Given the description of an element on the screen output the (x, y) to click on. 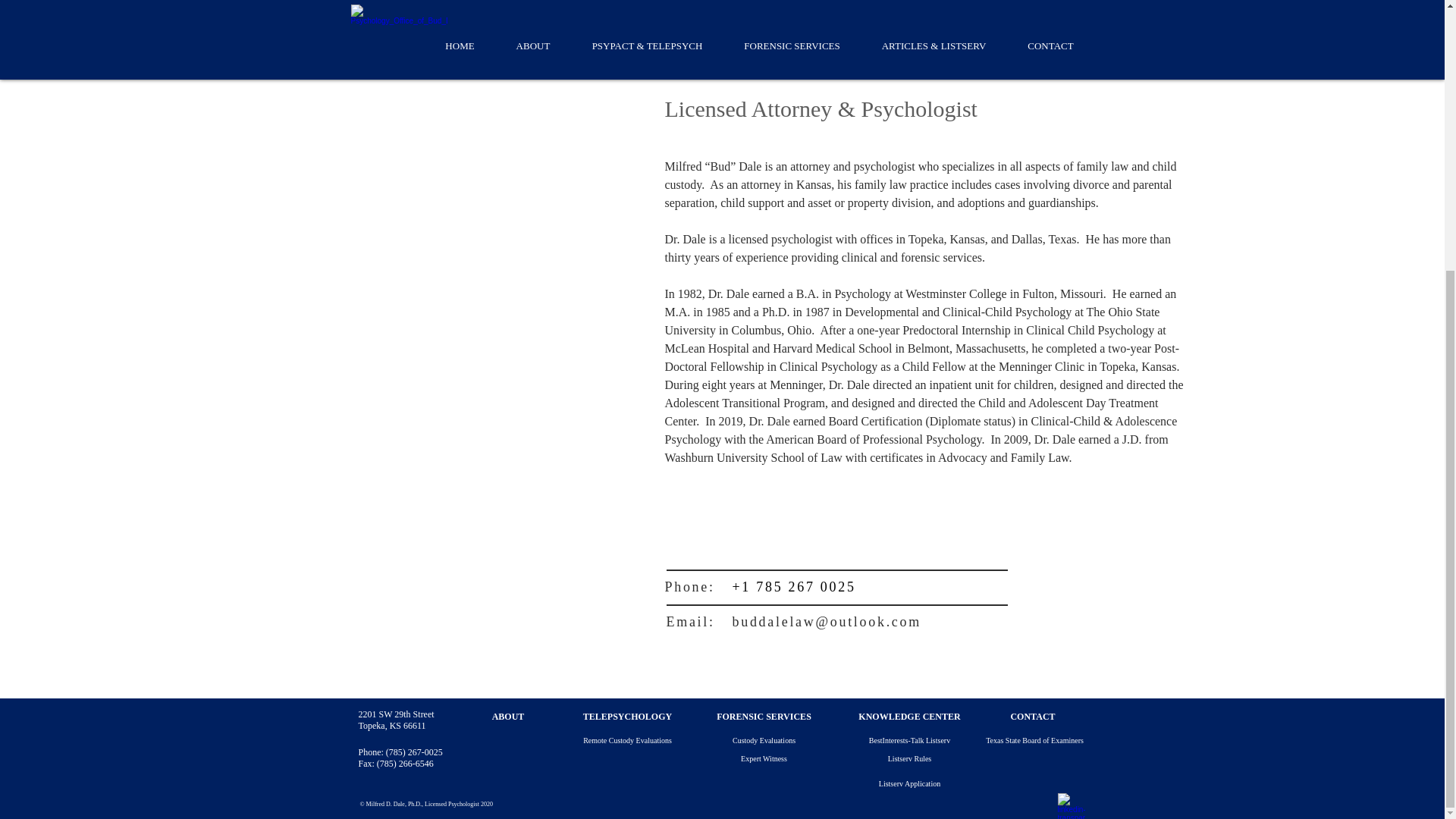
Expert Witness (763, 758)
FORENSIC SERVICES (763, 716)
Listserv Application (908, 783)
CONTACT (1032, 716)
BestInterests-Talk Listserv (908, 740)
Remote Custody Evaluations (627, 740)
KNOWLEDGE CENTER (908, 716)
TELEPSYCHOLOGY (627, 716)
Custody Evaluations (763, 740)
Texas State Board of Examiners (1034, 740)
ABOUT (507, 716)
Phone: (688, 586)
Listserv Rules (908, 758)
